Given the description of an element on the screen output the (x, y) to click on. 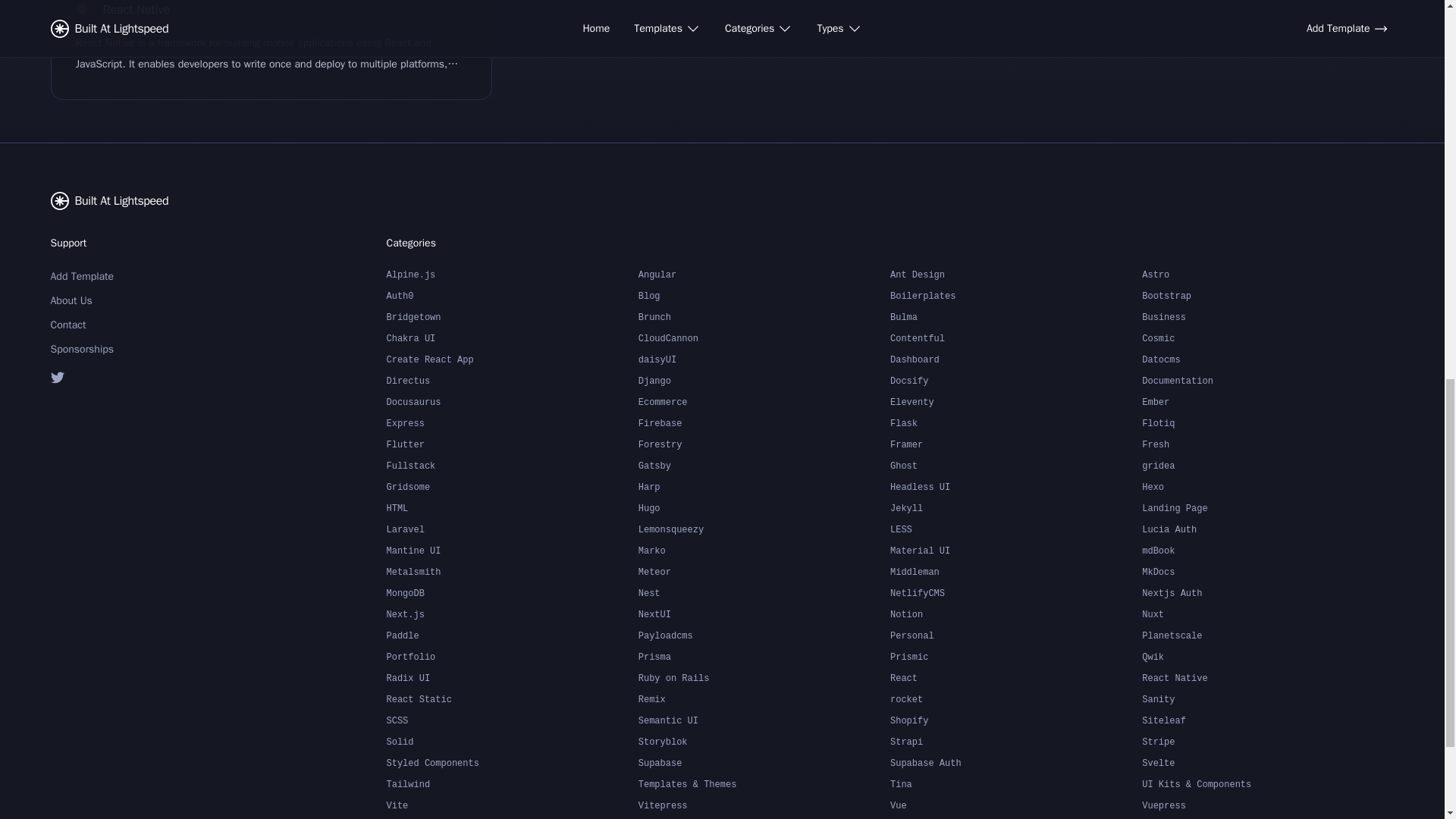
Cosmic (1267, 337)
About Us (127, 300)
Dashboard (1015, 359)
daisyUI (764, 359)
Docsify (1015, 380)
Datocms (1267, 359)
Directus (513, 380)
Business (1267, 316)
twitter (127, 376)
Boilerplates (1015, 295)
Blog (764, 295)
Bridgetown (513, 316)
Sponsorships (127, 348)
Add Template (127, 275)
Alpine.js (513, 274)
